Given the description of an element on the screen output the (x, y) to click on. 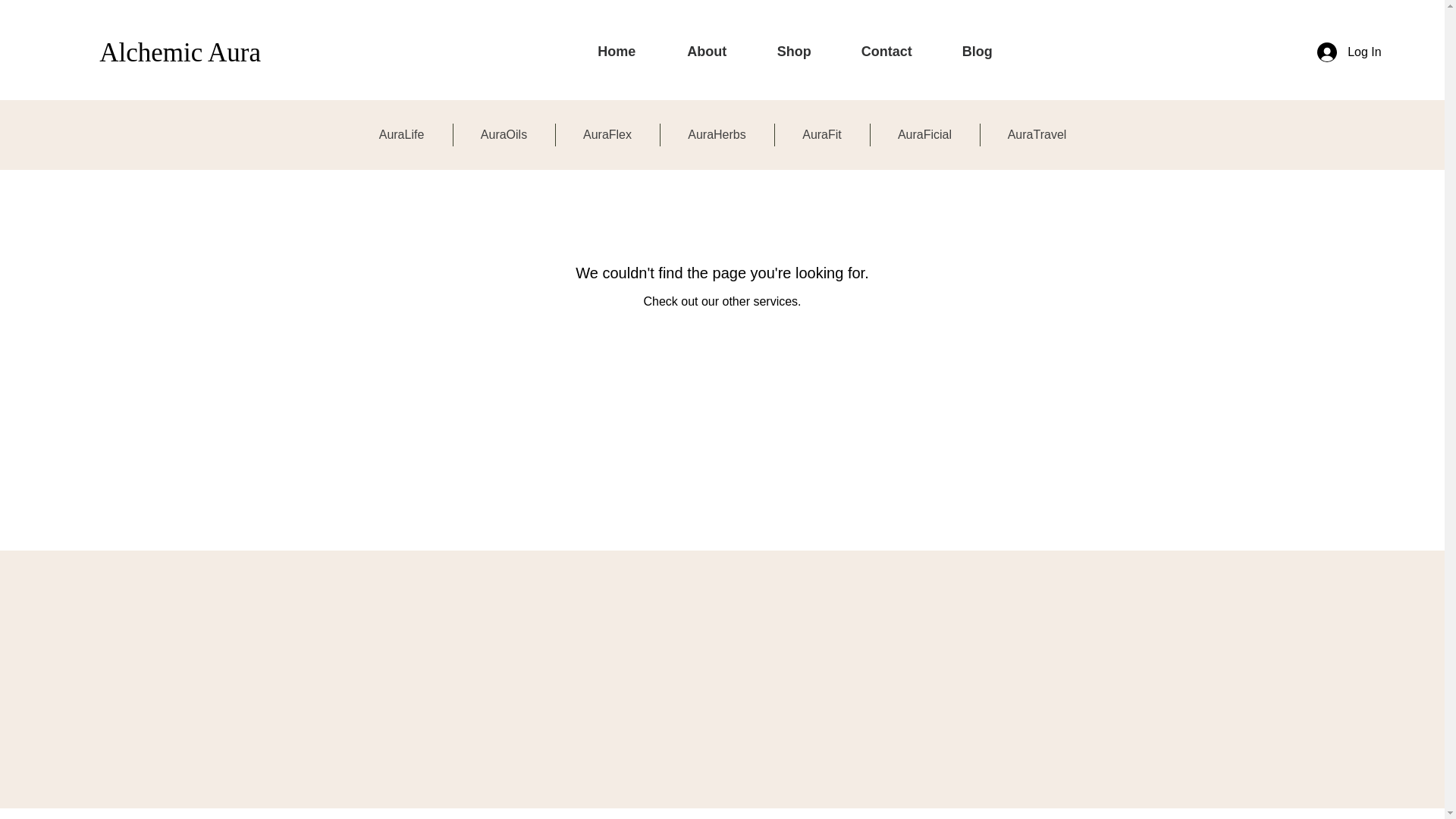
AuraOils (503, 134)
AuraHerbs (716, 134)
Alchemic Aura (179, 52)
Shop (793, 51)
AuraFlex (606, 134)
Contact (886, 51)
About (707, 51)
AuraTravel (1036, 134)
Blog (977, 51)
AuraFicial (924, 134)
